Given the description of an element on the screen output the (x, y) to click on. 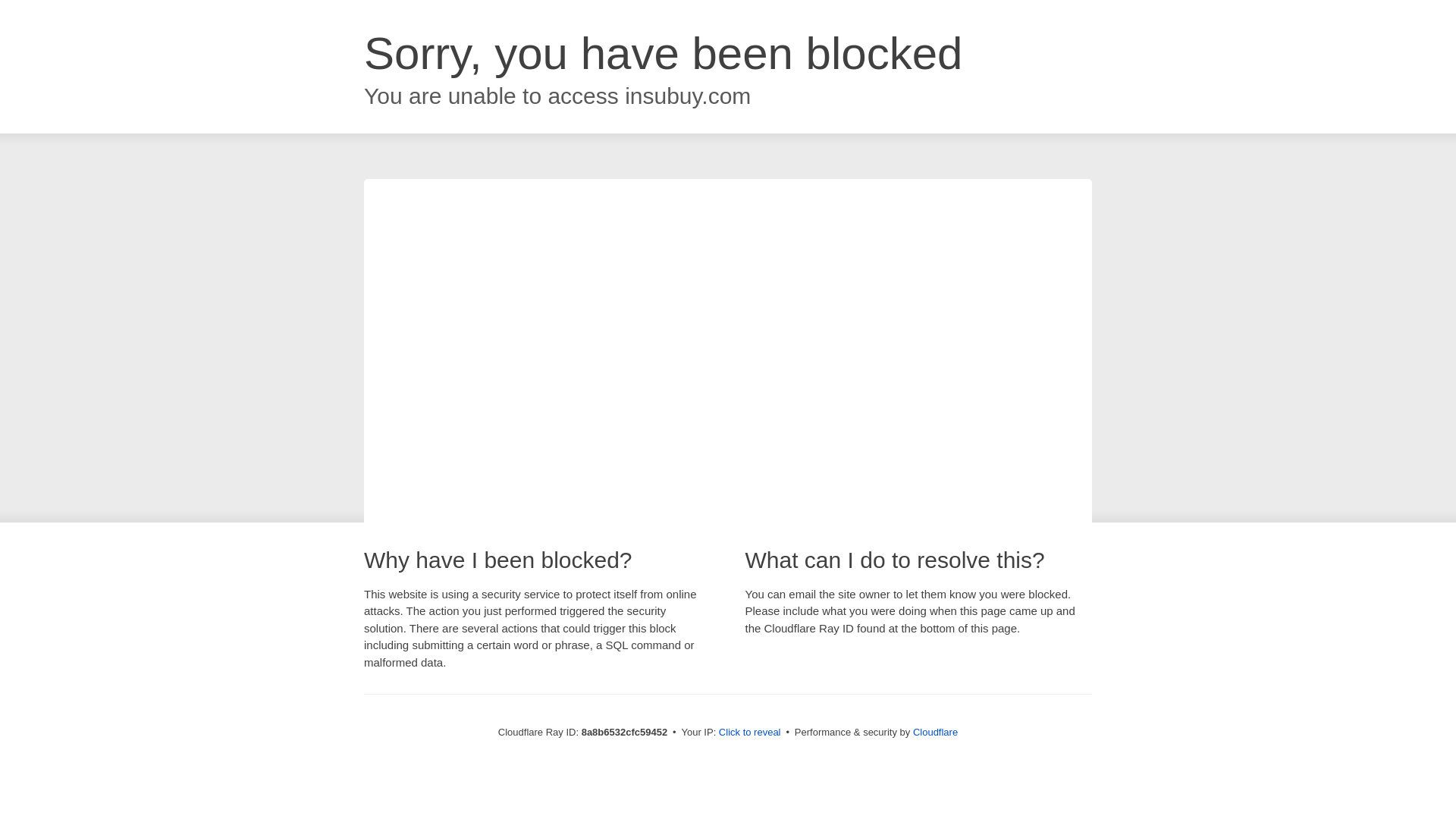
Click to reveal (749, 732)
Cloudflare (935, 731)
